Given the description of an element on the screen output the (x, y) to click on. 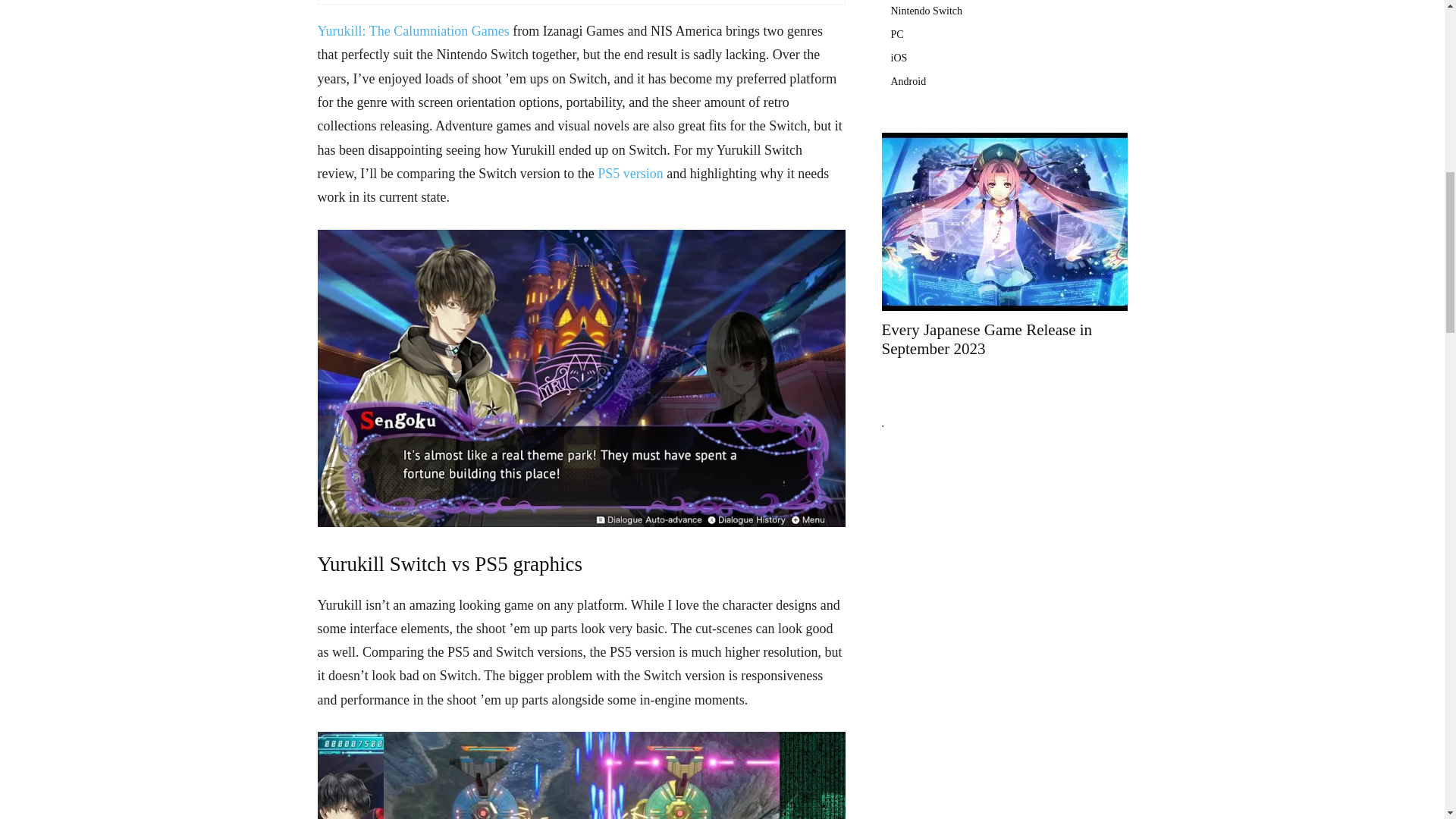
PS5 version (629, 173)
Yurukill: The Calumniation Games (412, 30)
